Given the description of an element on the screen output the (x, y) to click on. 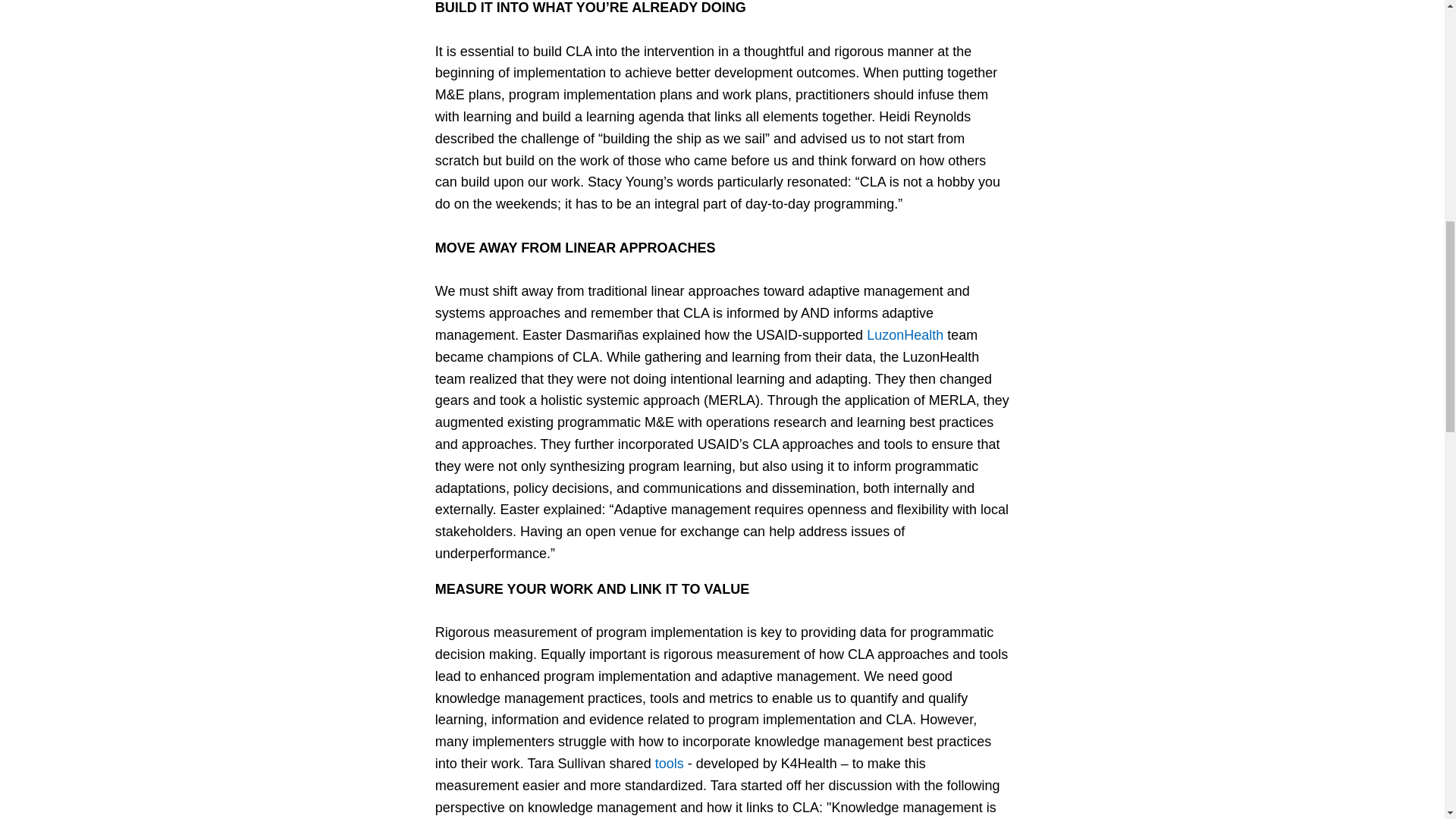
LuzonHealth (904, 335)
tools (669, 763)
